Given the description of an element on the screen output the (x, y) to click on. 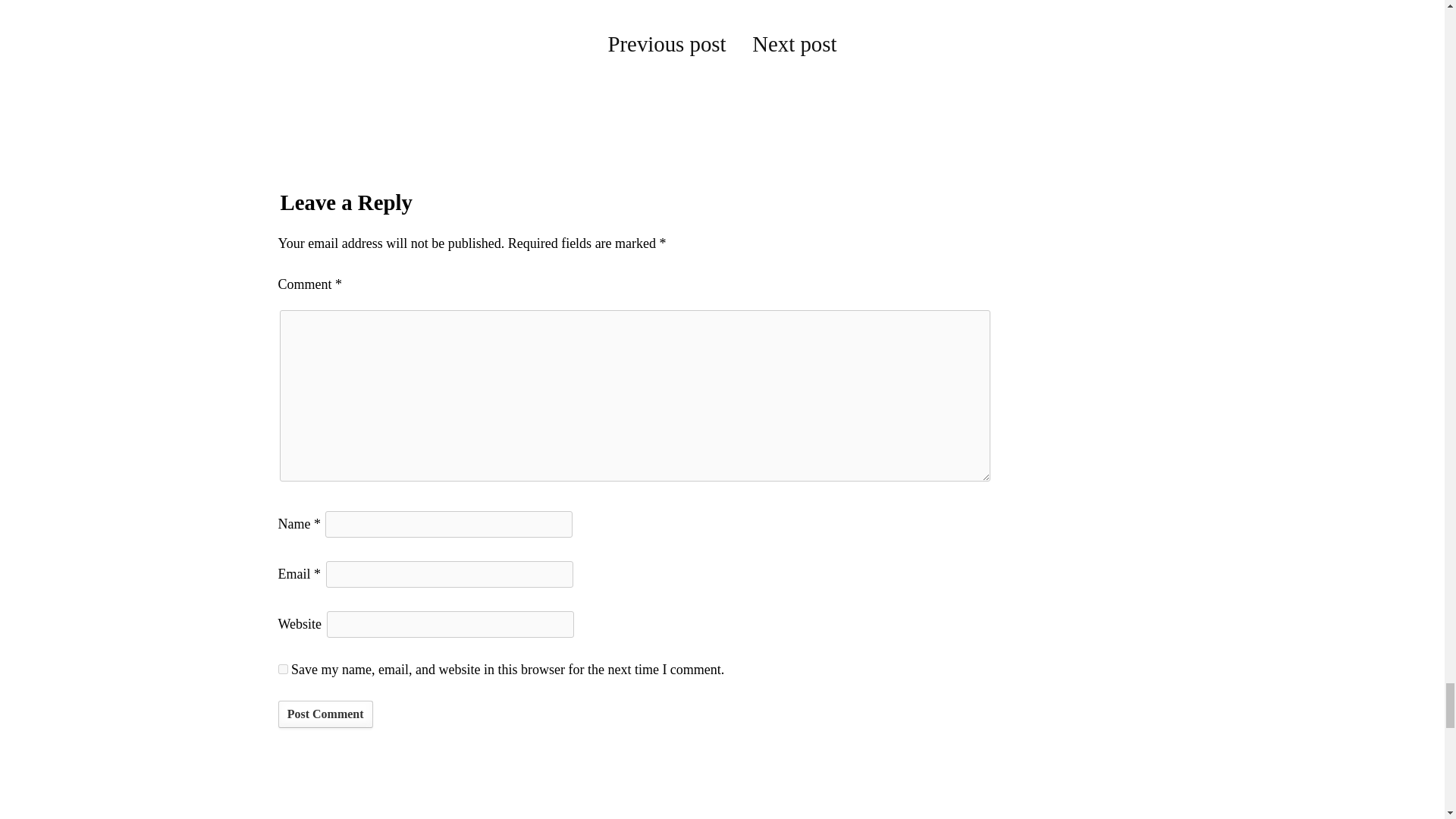
Post Comment (325, 714)
Next post (793, 43)
Post Comment (325, 714)
yes (282, 669)
Previous post (667, 43)
